Given the description of an element on the screen output the (x, y) to click on. 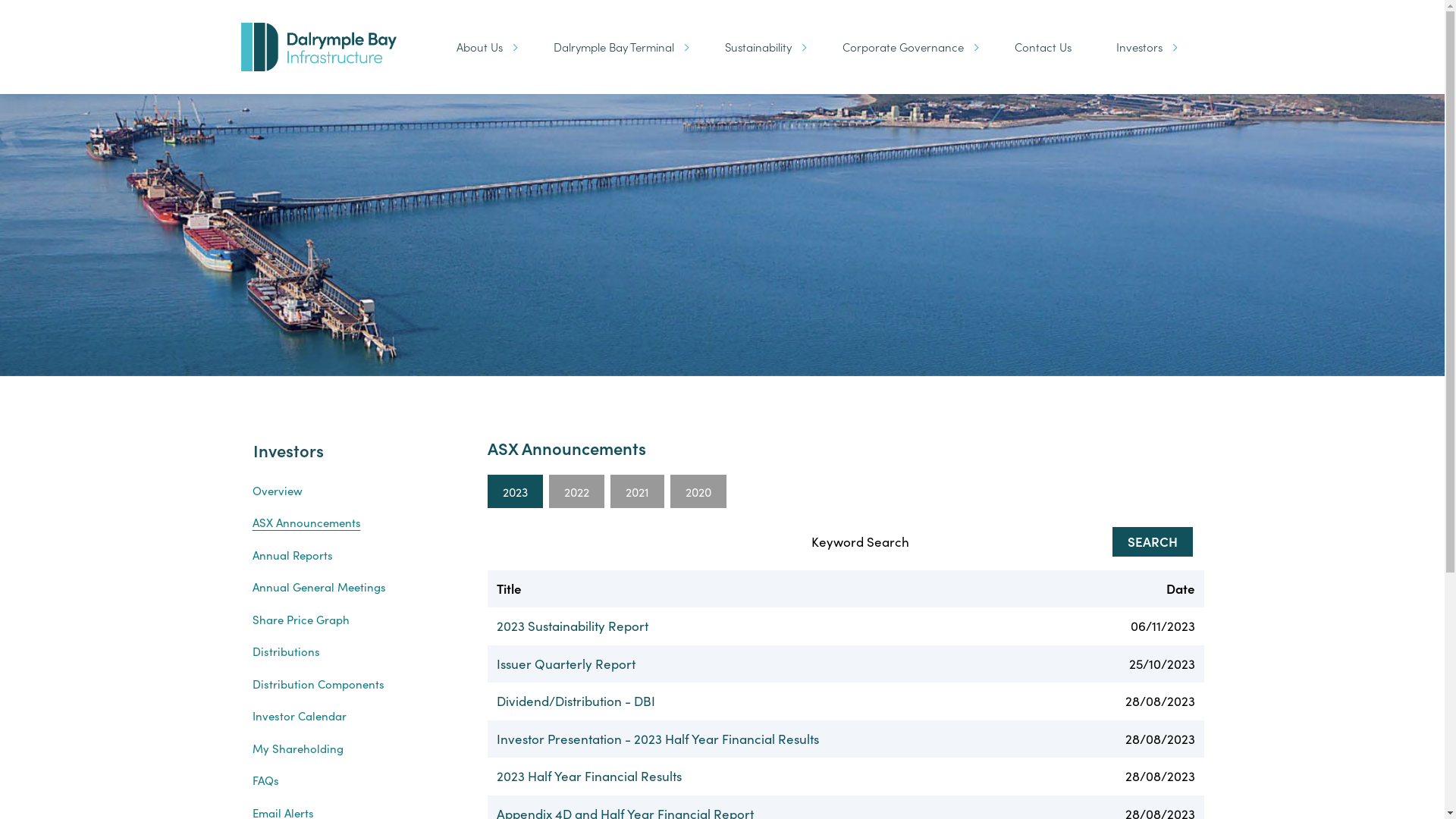
2023 Sustainability Report Element type: text (571, 625)
Investors Element type: text (1142, 47)
Contact Us Element type: text (1042, 47)
Issuer Quarterly Report Element type: text (564, 663)
My Shareholding Element type: text (352, 748)
Investors Element type: text (288, 449)
2020 Element type: text (698, 491)
Dalrymple Bay Terminal Element type: text (616, 47)
Dividend/Distribution - DBI Element type: text (574, 700)
Sustainability Element type: text (760, 47)
Annual Reports Element type: text (352, 555)
Investor Presentation - 2023 Half Year Financial Results Element type: text (656, 738)
About Us Element type: text (482, 47)
2021 Element type: text (636, 491)
Corporate Governance Element type: text (905, 47)
Investor Calendar Element type: text (352, 715)
Overview Element type: text (352, 490)
2022 Element type: text (576, 491)
2023 Half Year Financial Results Element type: text (587, 775)
FAQs Element type: text (352, 780)
Distribution Components Element type: text (352, 684)
Annual General Meetings Element type: text (352, 587)
Distributions Element type: text (352, 651)
2023 Element type: text (514, 491)
ASX Announcements Element type: text (352, 522)
Share Price Graph Element type: text (352, 619)
